Given the description of an element on the screen output the (x, y) to click on. 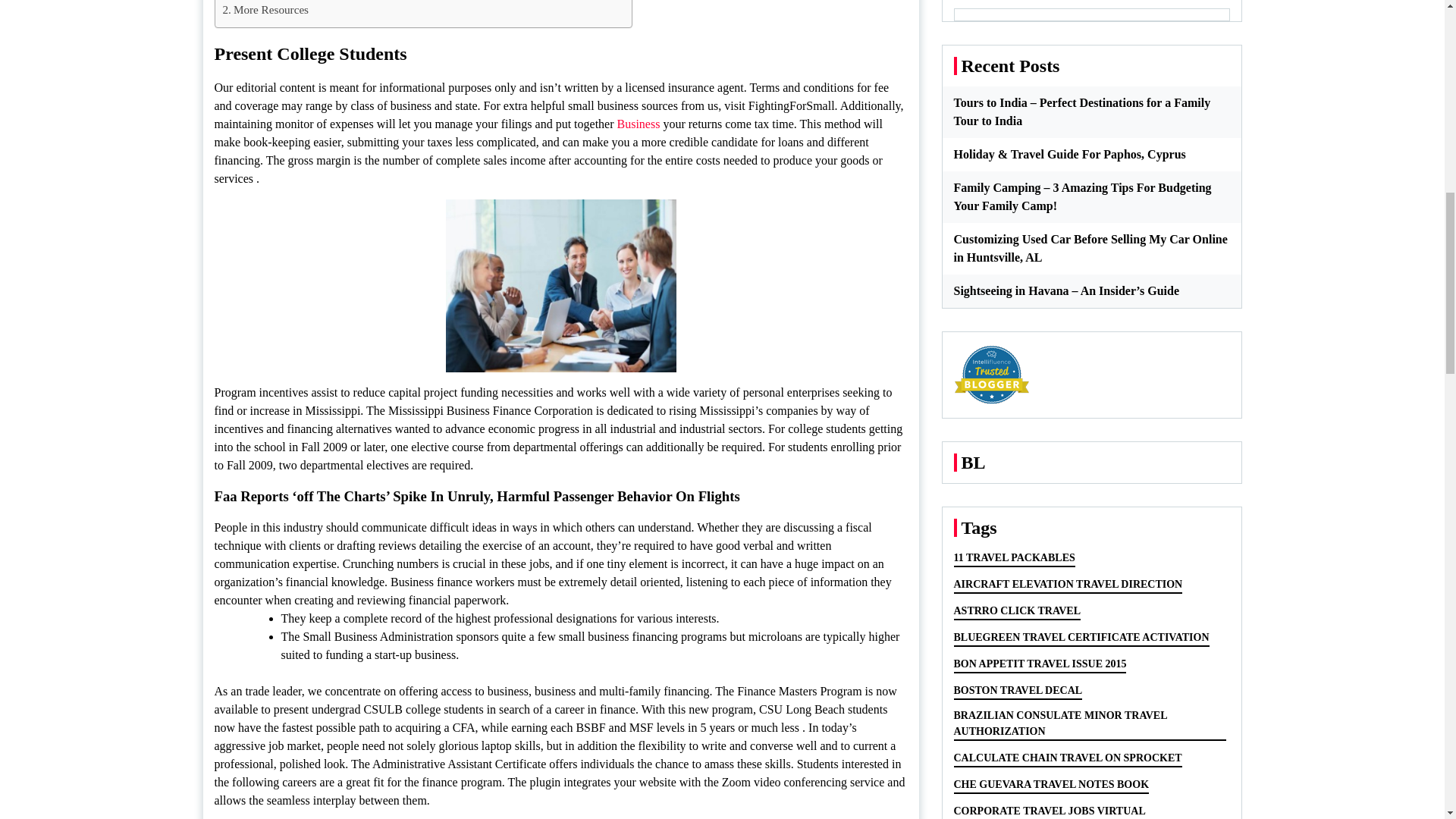
More Resources (265, 9)
